Given the description of an element on the screen output the (x, y) to click on. 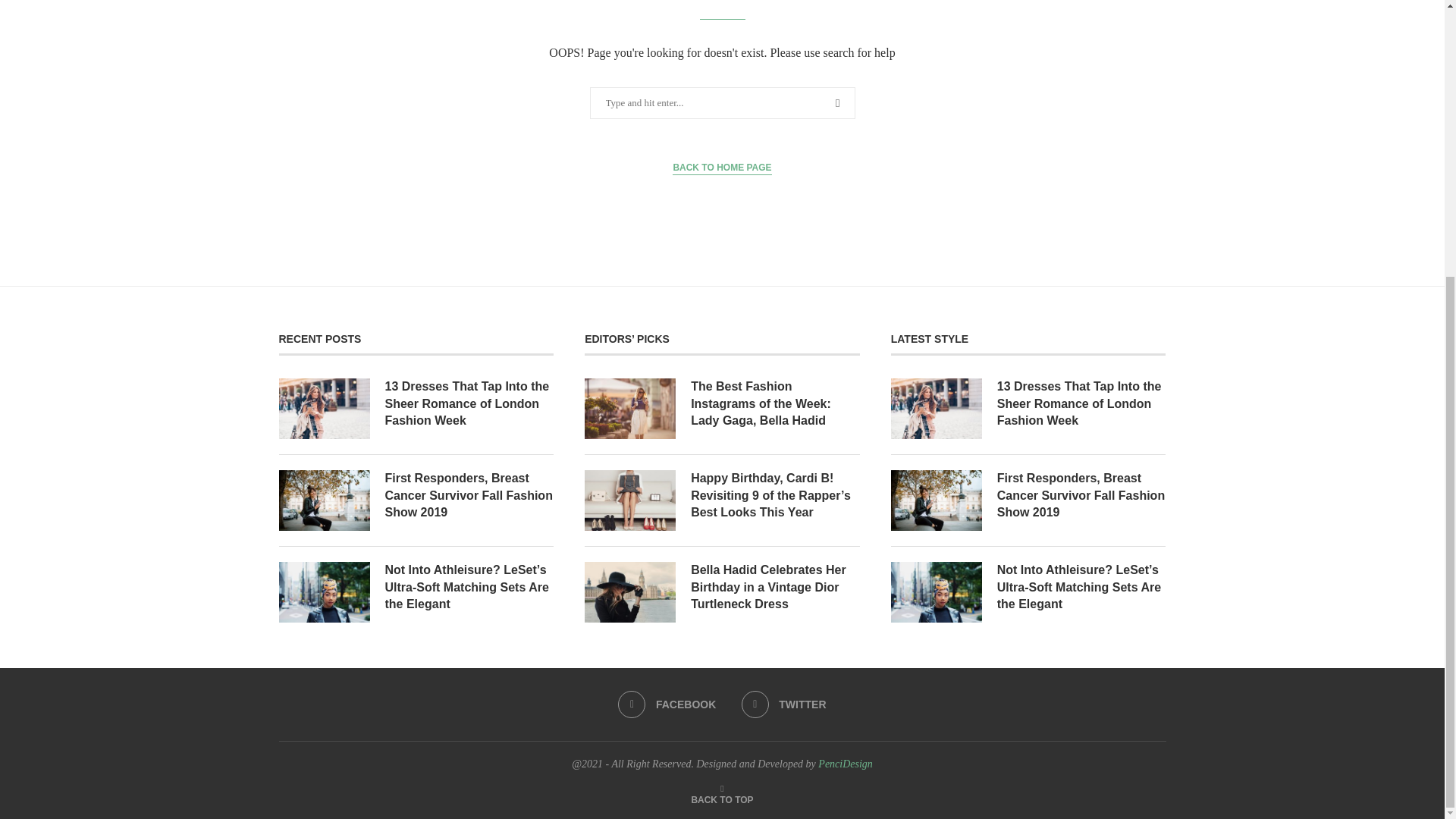
PenciDesign (845, 763)
TWITTER (784, 704)
BACK TO HOME PAGE (721, 167)
